Given the description of an element on the screen output the (x, y) to click on. 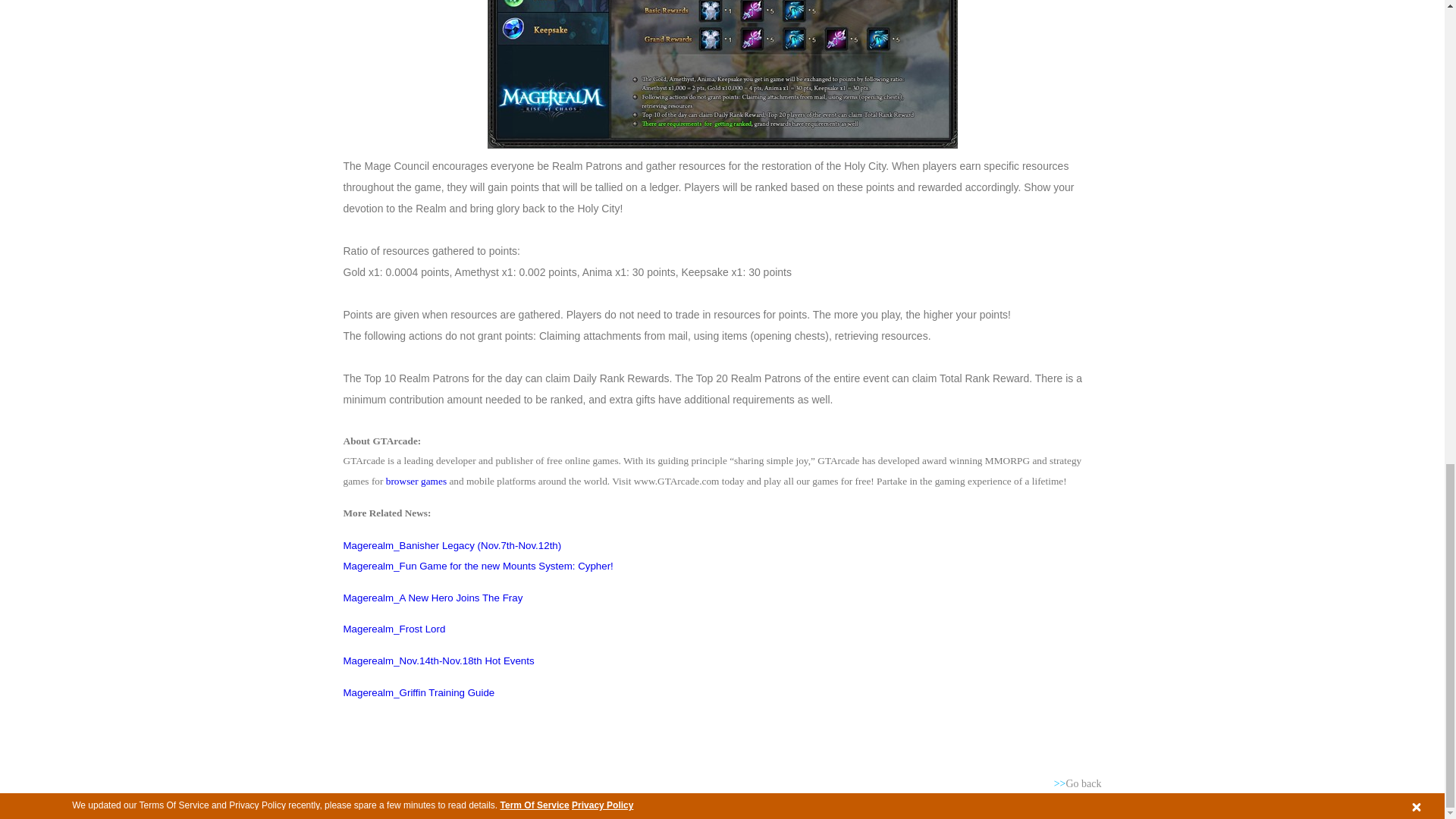
browser games (415, 480)
